Given the description of an element on the screen output the (x, y) to click on. 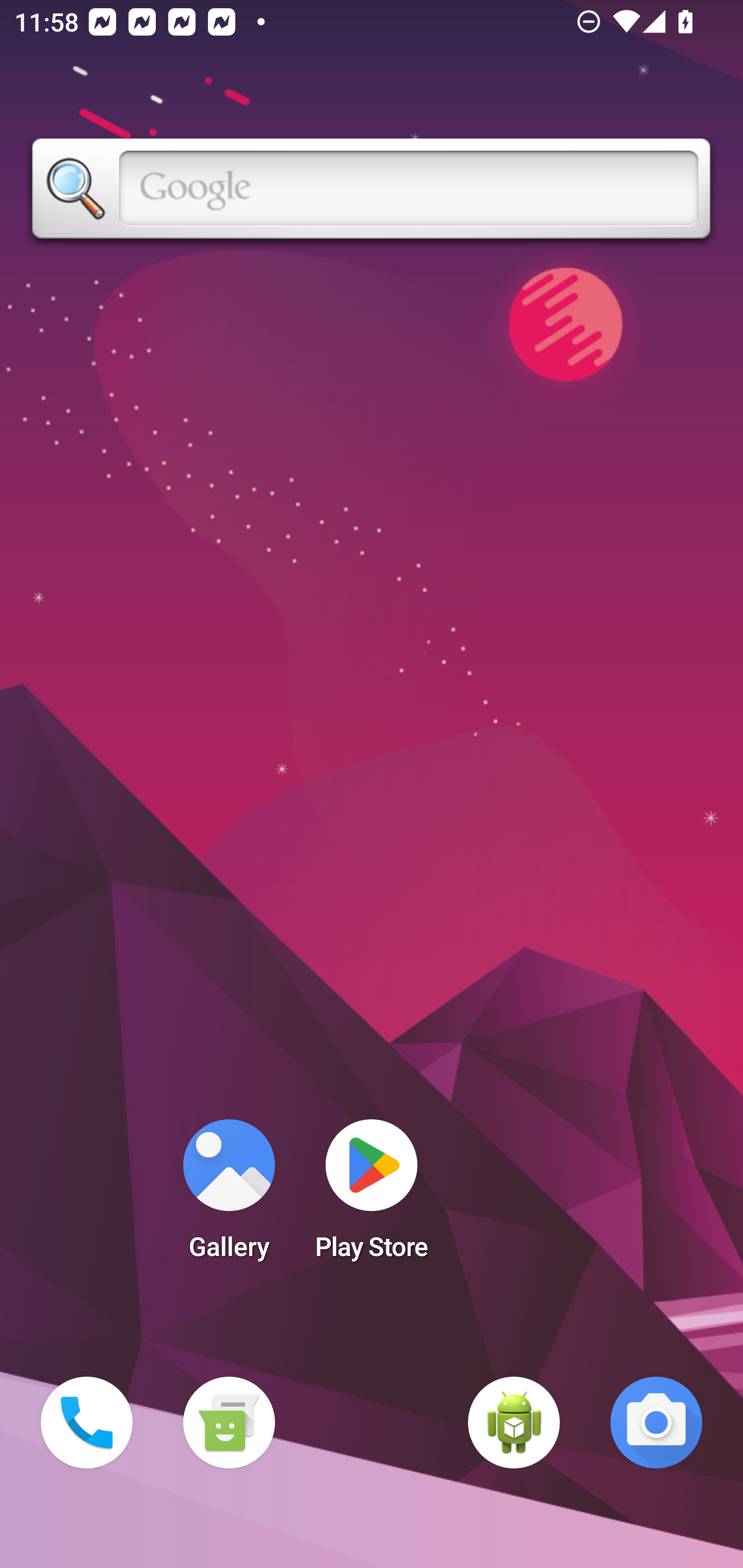
Gallery (228, 1195)
Play Store (371, 1195)
Phone (86, 1422)
Messaging (228, 1422)
WebView Browser Tester (513, 1422)
Camera (656, 1422)
